Given the description of an element on the screen output the (x, y) to click on. 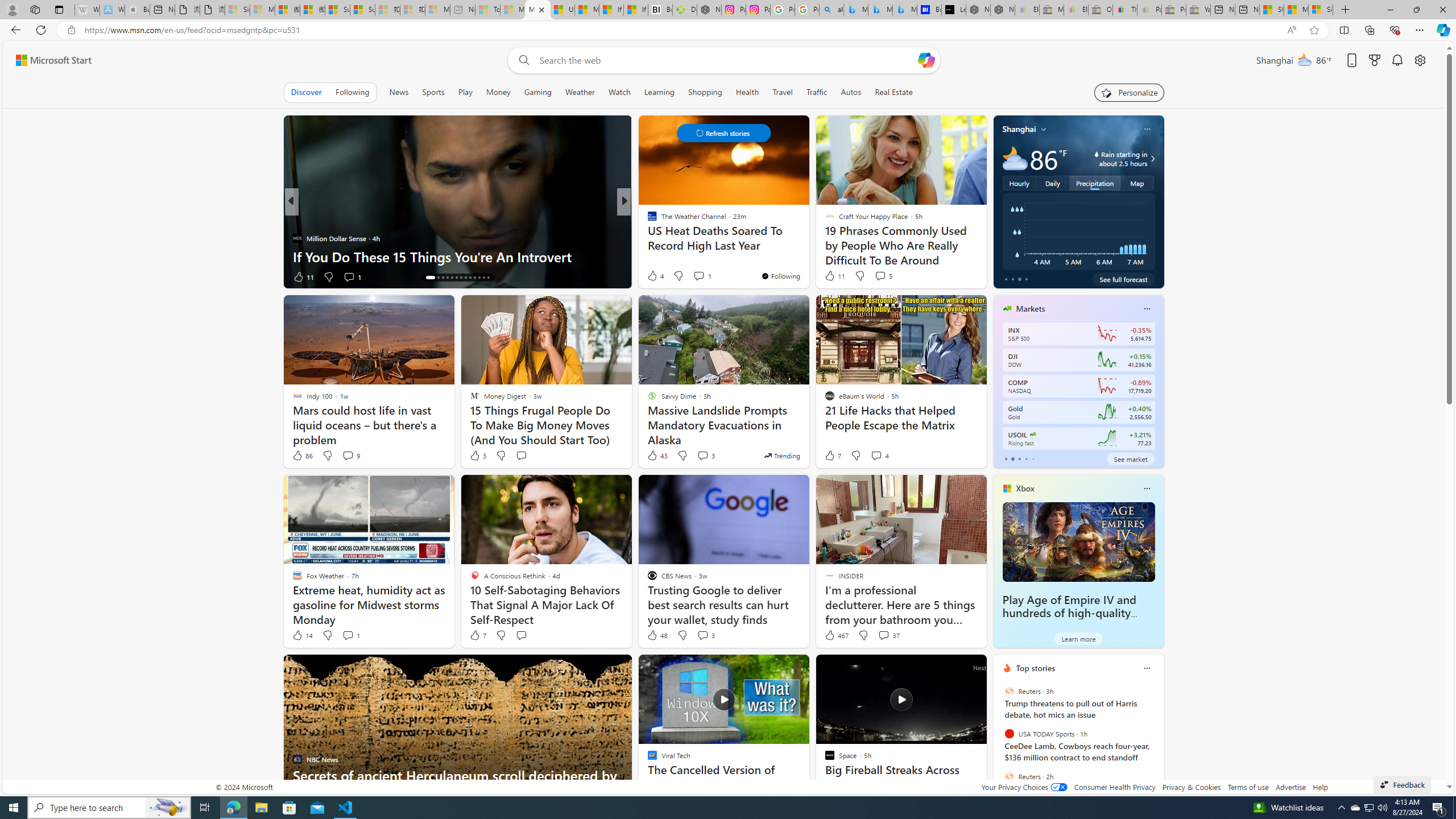
alabama high school quarterback dies - Search (830, 9)
View comments 1k Comment (703, 276)
See full forecast (1123, 278)
tab-2 (1019, 458)
Top Stories - MSN - Sleeping (487, 9)
View comments 5 Comment (882, 275)
View comments 37 Comment (888, 634)
